Given the description of an element on the screen output the (x, y) to click on. 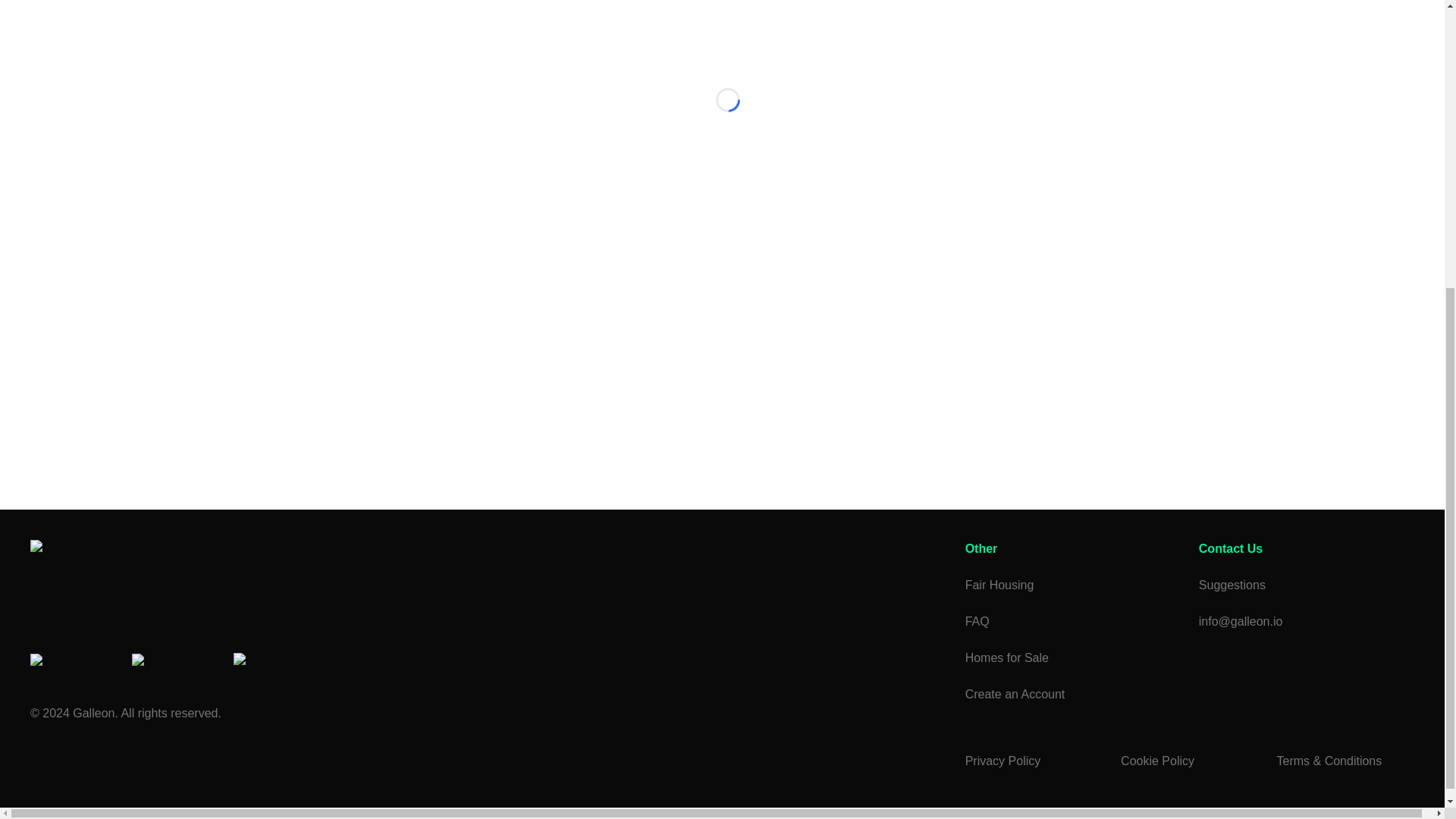
Privacy Policy (1033, 769)
Suggestions (1305, 584)
Homes for Sale (1072, 657)
Cookie Policy (1189, 769)
Create an Account (1072, 693)
Fair Housing (1072, 584)
FAQ (1072, 620)
